Given the description of an element on the screen output the (x, y) to click on. 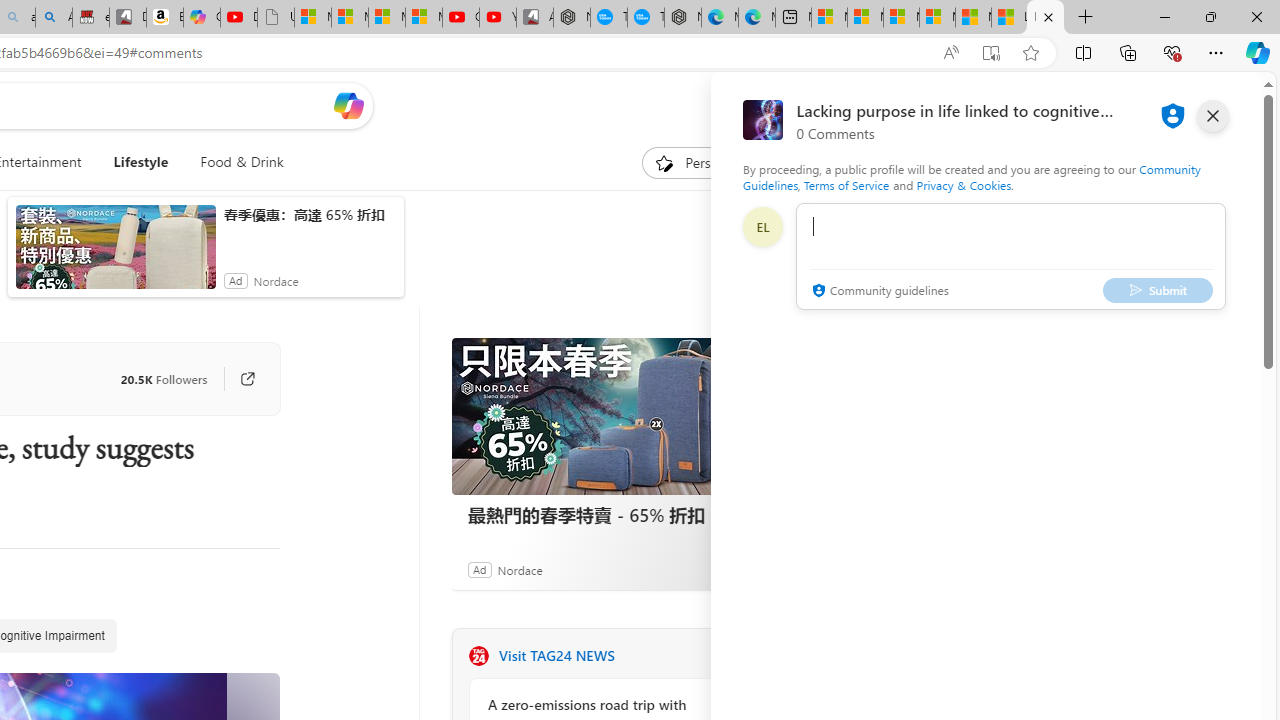
Nordace - Nordace has arrived Hong Kong (682, 17)
Community guidelines (878, 291)
comment-box (1011, 256)
Open settings (1216, 105)
Microsoft account | Microsoft Account Privacy Settings (865, 17)
Lifestyle (141, 162)
Profile Picture (762, 226)
TAG24 NEWS (478, 655)
close (1212, 115)
